Given the description of an element on the screen output the (x, y) to click on. 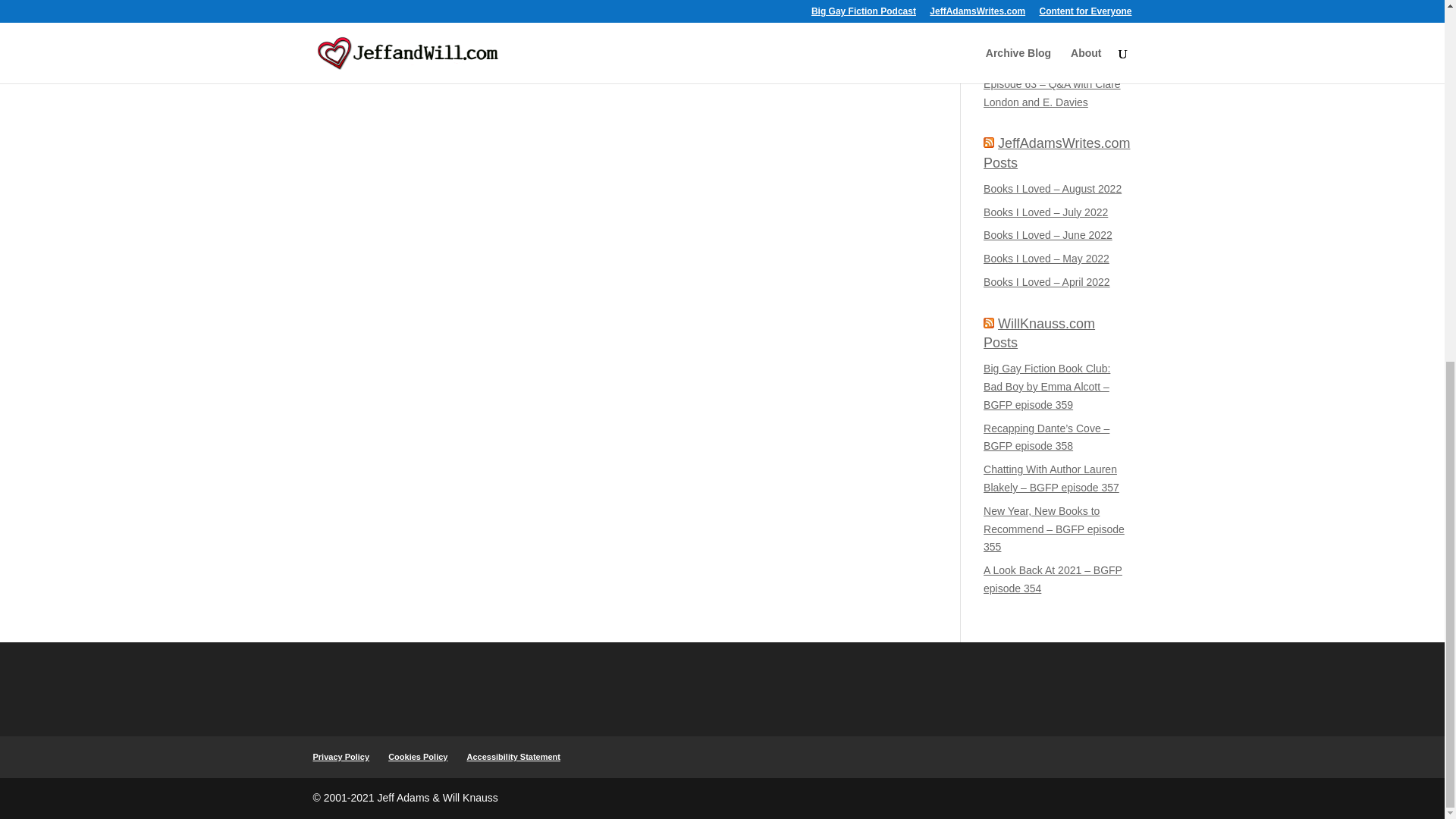
WillKnauss.com Posts (1039, 333)
Privacy Policy (341, 756)
Accessibility Statement (513, 756)
JeffAdamsWrites.com Posts (1056, 152)
Cookies Policy (417, 756)
